Given the description of an element on the screen output the (x, y) to click on. 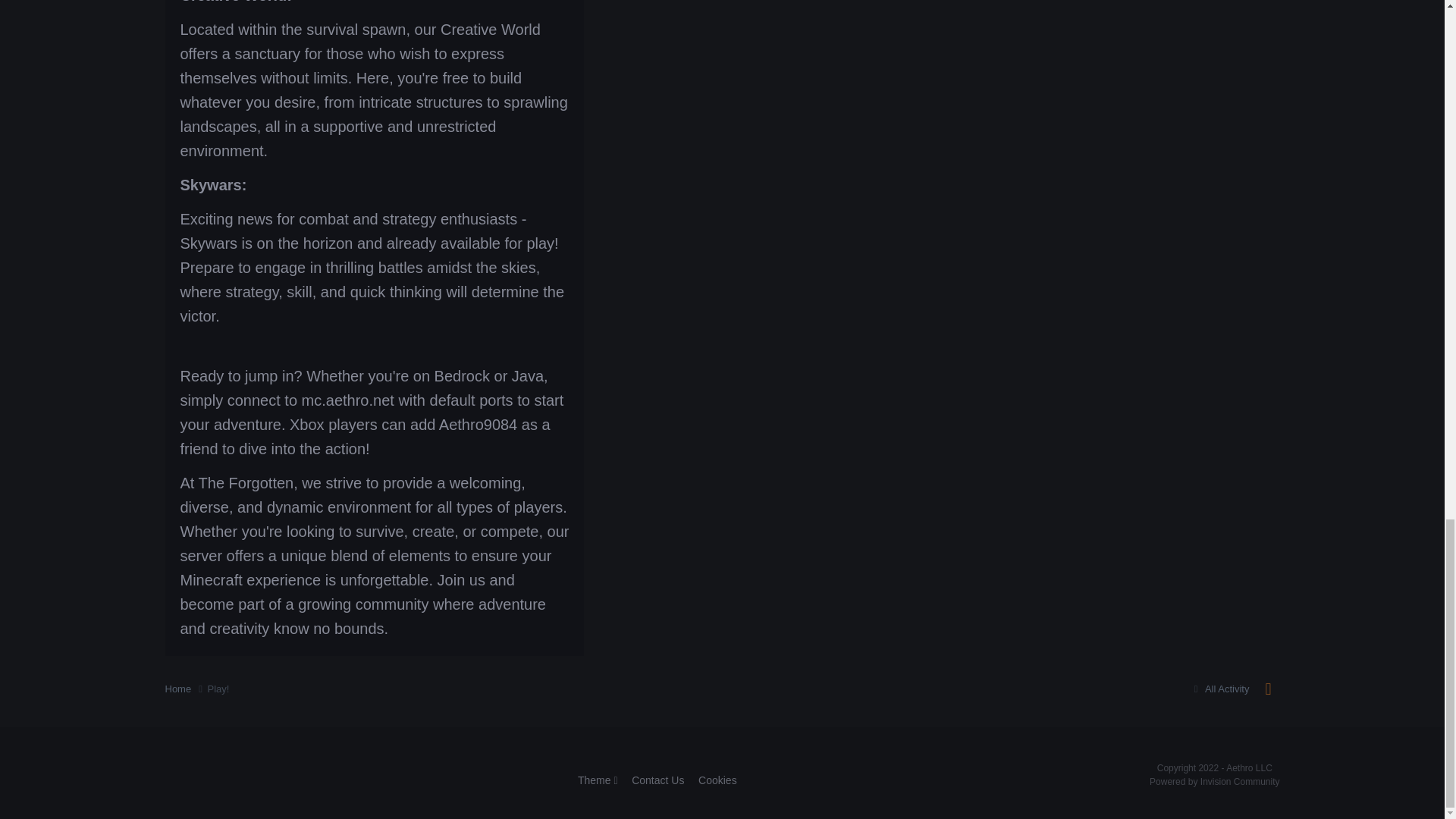
Invision Community (1214, 781)
Available RSS feeds (1267, 689)
Home (186, 688)
